Given the description of an element on the screen output the (x, y) to click on. 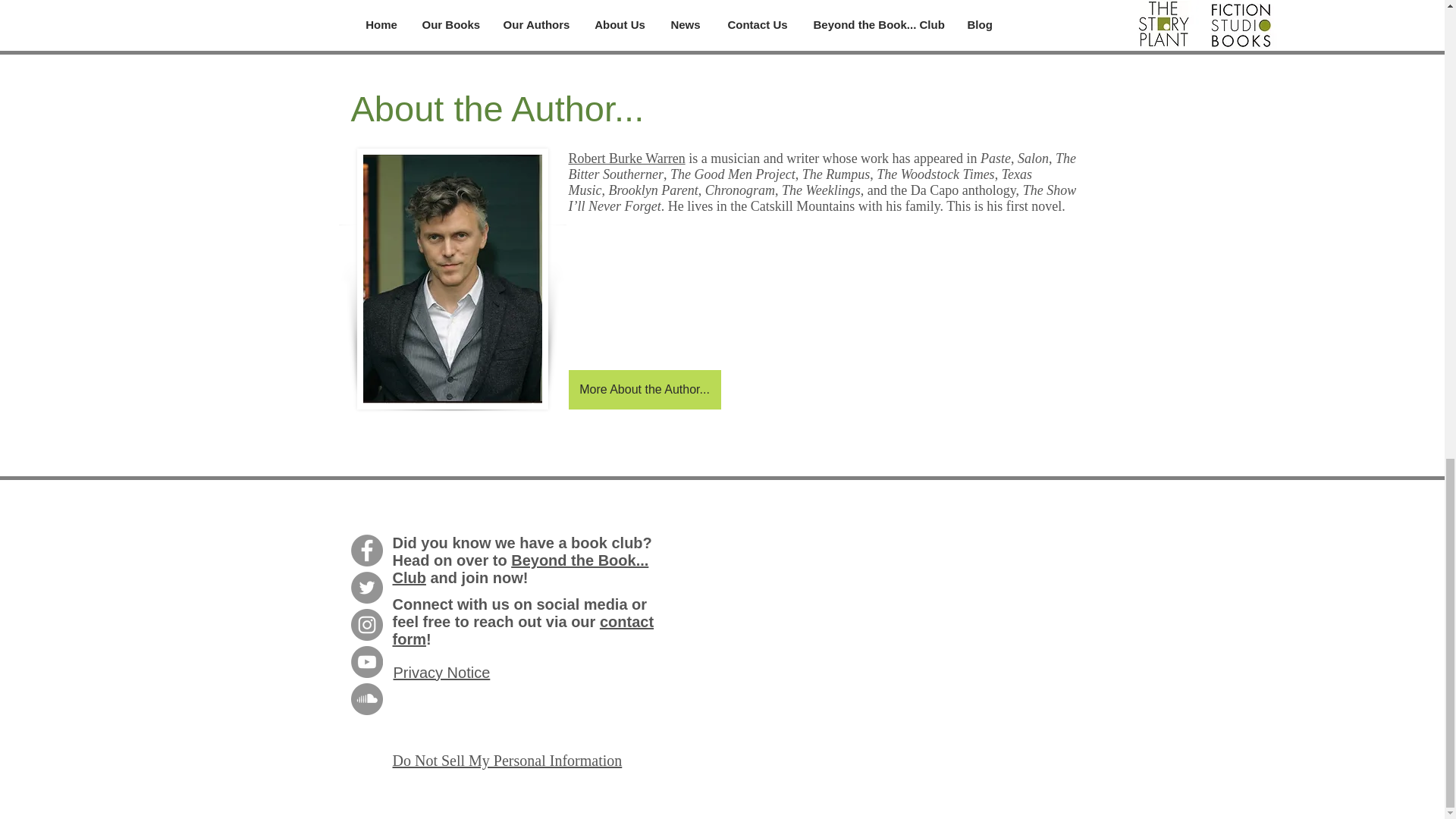
More About the Author... (644, 389)
Beyond the Book... Club (521, 569)
Do Not Sell My Personal Information (508, 760)
Privacy Notice (441, 672)
Robert Burke Warren (627, 158)
contact form (523, 630)
Read an excerpt (723, 24)
